Given the description of an element on the screen output the (x, y) to click on. 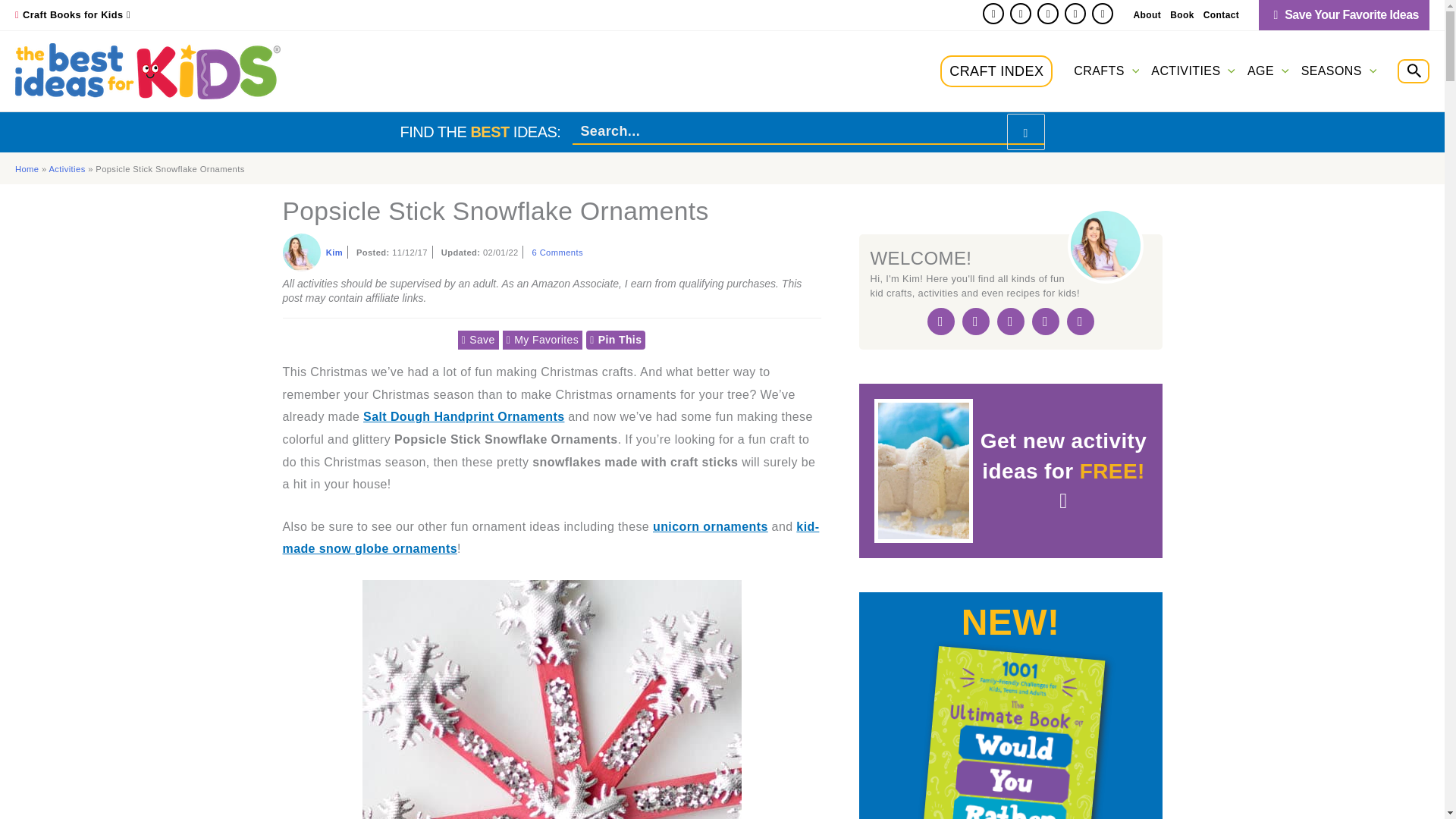
Kim (301, 251)
SEASONS (1339, 71)
Facebook (993, 13)
CRAFT INDEX (996, 70)
About Kim (334, 252)
Book (1182, 15)
About (1147, 15)
Pinterest (1020, 13)
Tiktok (1102, 13)
CRAFTS (1105, 71)
Craft Books for Kids (77, 14)
Instagram (1047, 13)
ACTIVITIES (1192, 71)
AGE (1268, 71)
My Profile (1344, 15)
